Given the description of an element on the screen output the (x, y) to click on. 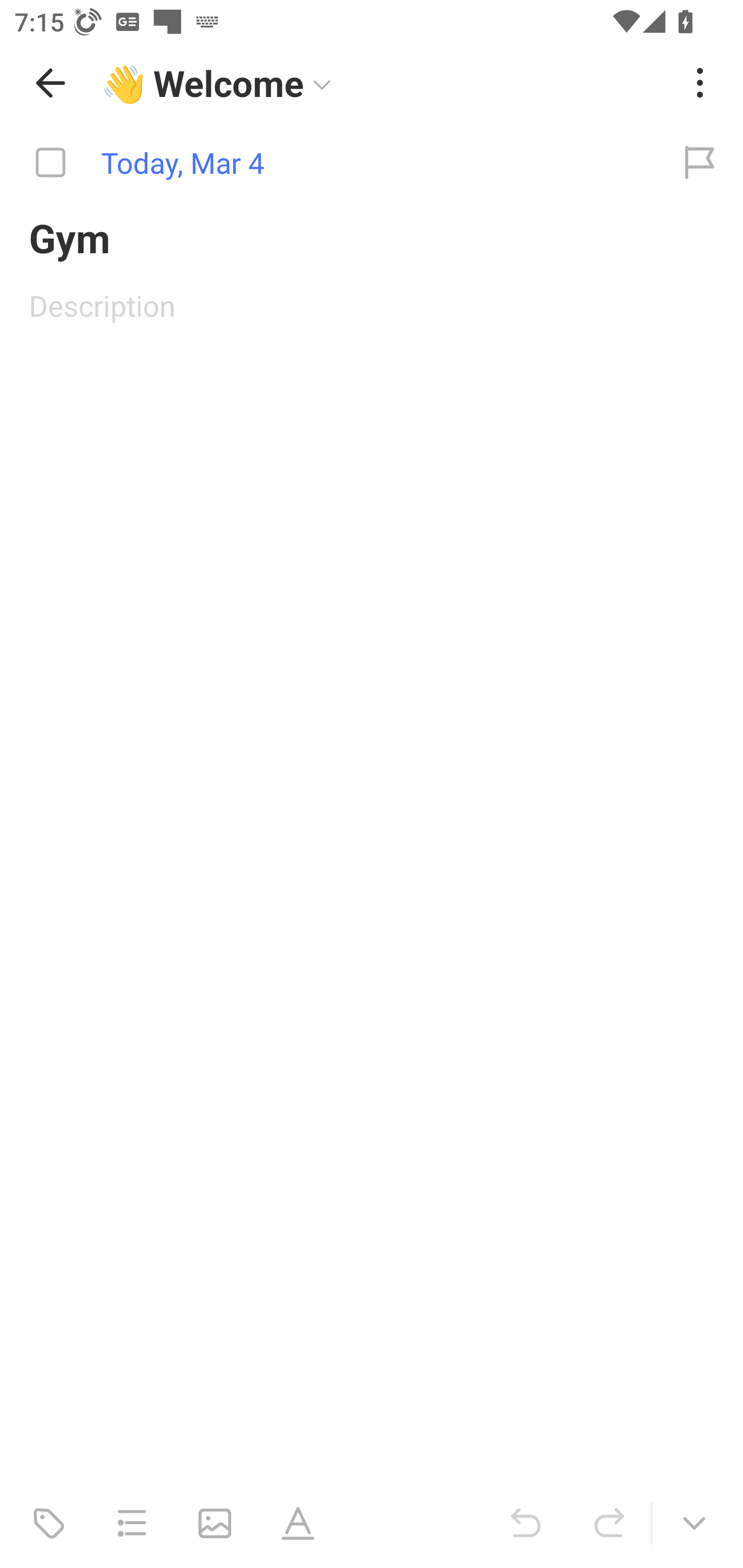
👋 Welcome (384, 82)
Today, Mar 4  (328, 163)
Gym (371, 237)
Description (371, 304)
